Given the description of an element on the screen output the (x, y) to click on. 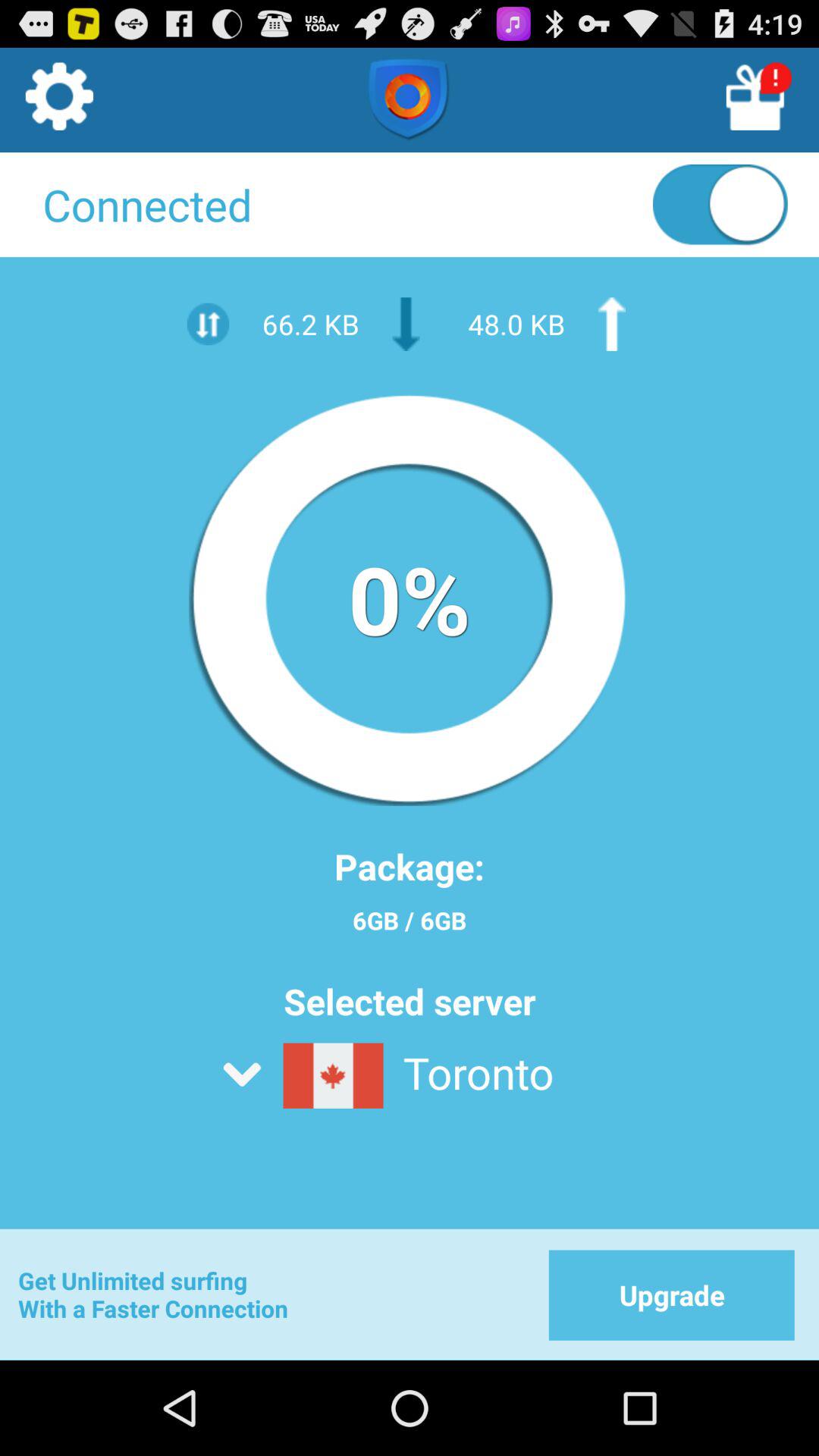
select the server (446, 1115)
